Given the description of an element on the screen output the (x, y) to click on. 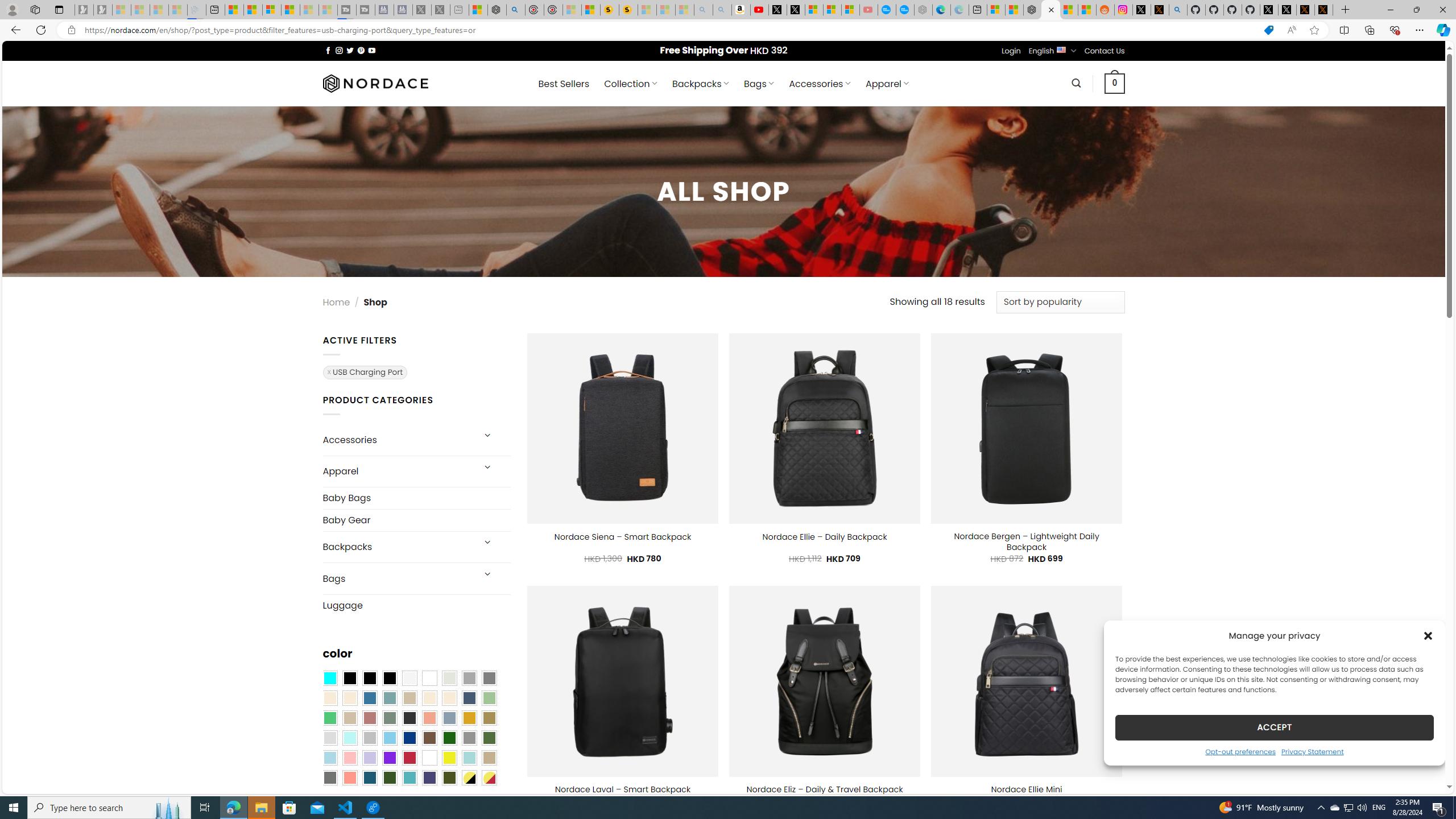
Luggage (416, 605)
Cream (449, 698)
Accessories (397, 440)
Shop order (1060, 302)
Shanghai, China Weather trends | Microsoft Weather (1086, 9)
Forest (389, 777)
Yellow-Red (488, 777)
Nordace - Best Sellers (1032, 9)
Class: cmplz-close (1428, 635)
Tab actions menu (58, 9)
